Given the description of an element on the screen output the (x, y) to click on. 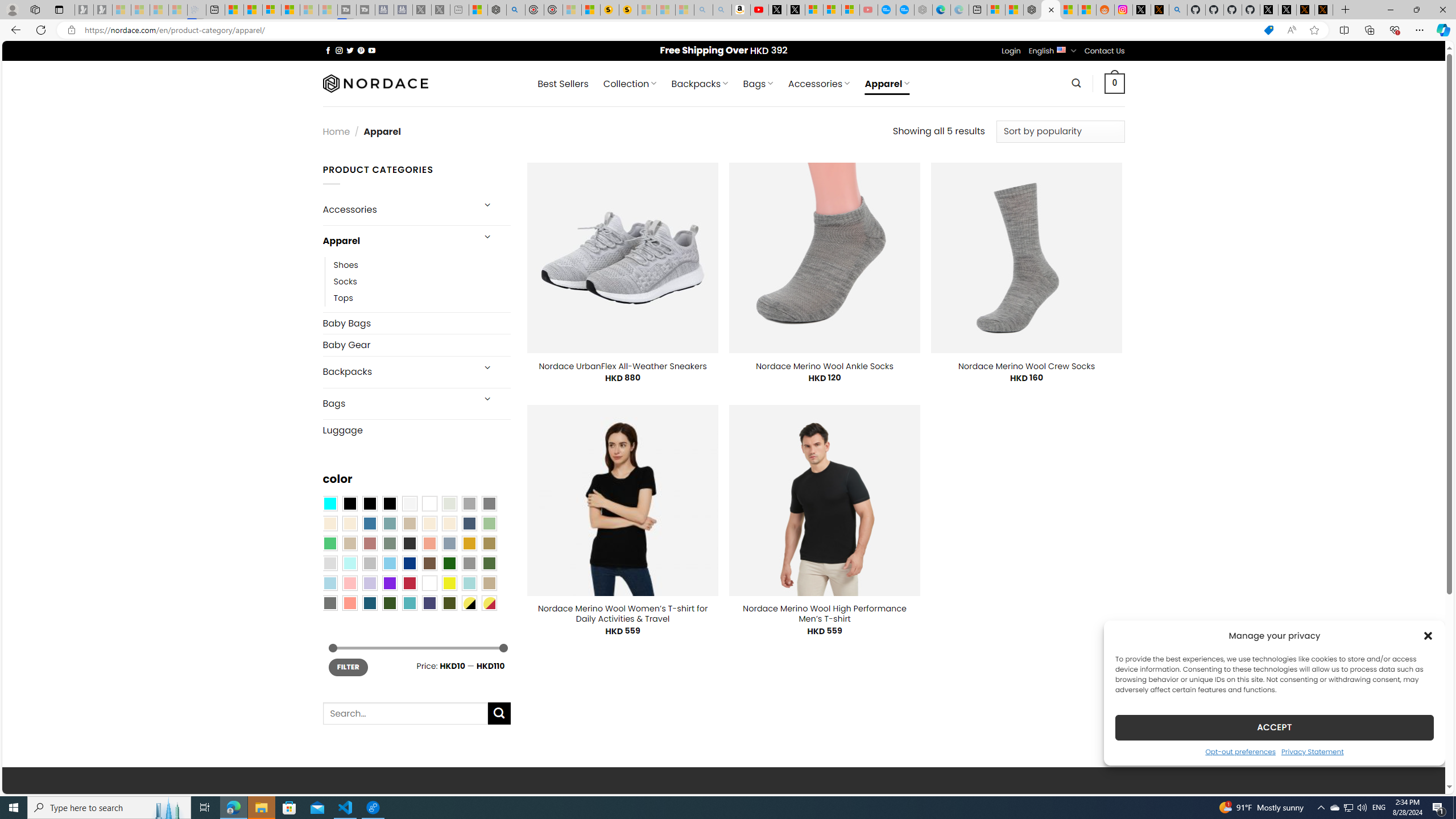
Search for: (404, 712)
Mint (349, 562)
X Privacy Policy (1324, 9)
Beige (329, 522)
 Best Sellers (562, 83)
Black-Brown (389, 503)
Nordace - Best Sellers (1032, 9)
The most popular Google 'how to' searches (904, 9)
